Given the description of an element on the screen output the (x, y) to click on. 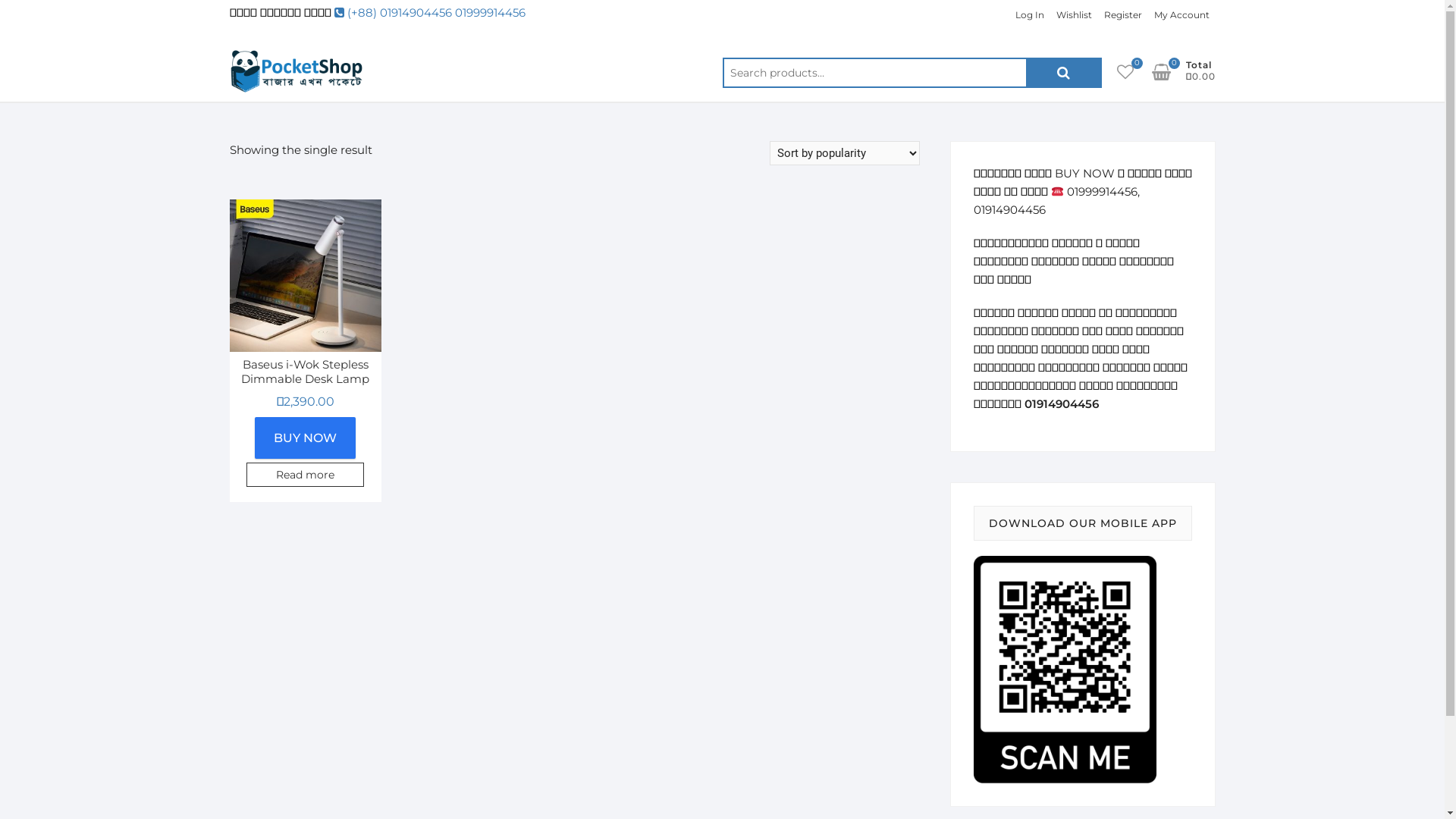
Register Element type: text (1123, 14)
+88) 01914904456 01999914456 Element type: text (437, 12)
Wishlist Element type: text (1073, 14)
My Account Element type: text (1181, 14)
Read more Element type: text (305, 474)
0 Element type: text (1132, 71)
0 Element type: text (1168, 71)
BUY NOW Element type: text (304, 438)
( Element type: text (341, 12)
Log In Element type: text (1028, 14)
Search Element type: text (1063, 72)
